Given the description of an element on the screen output the (x, y) to click on. 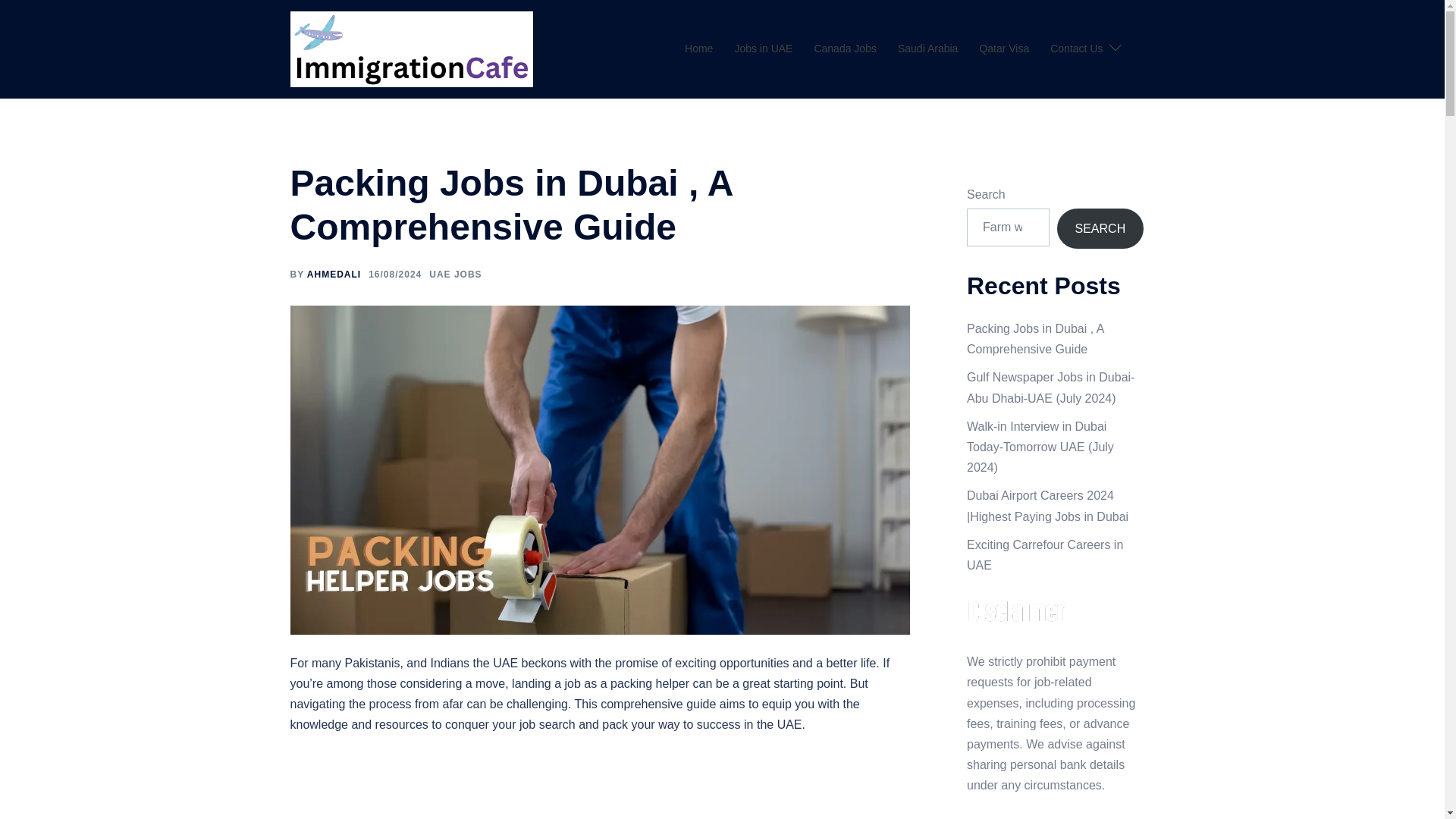
Jobs in UAE (762, 49)
Contact Us (1075, 49)
Canada Jobs (844, 49)
Advertisement (599, 786)
Saudi Arabia (928, 49)
ImmigrationCafe (410, 47)
Qatar Visa (1003, 49)
UAE JOBS (455, 274)
Home (698, 49)
AHMEDALI (334, 274)
